Given the description of an element on the screen output the (x, y) to click on. 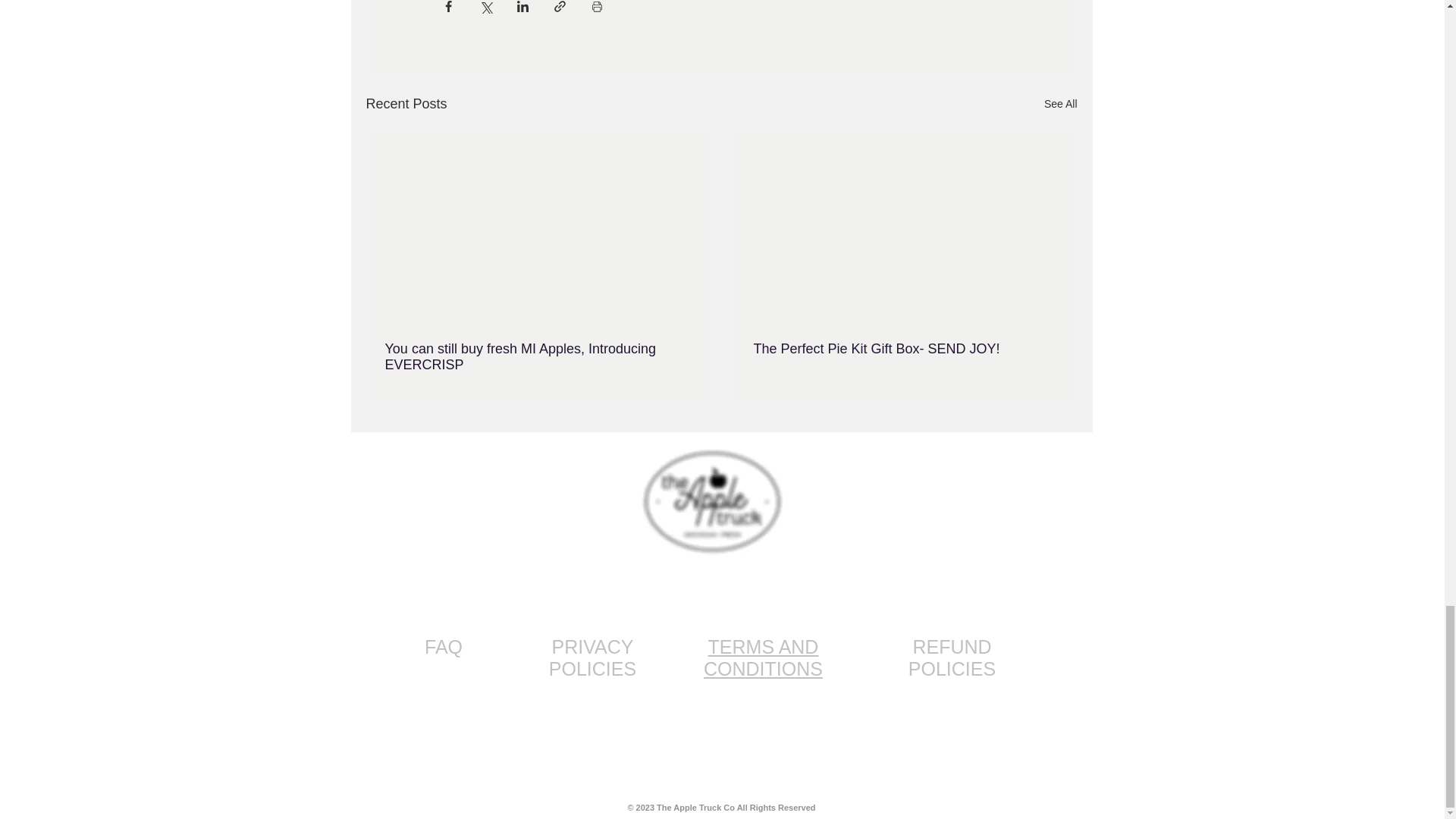
TERMS AND CONDITIONS (762, 657)
FAQ (444, 646)
You can still buy fresh MI Apples, Introducing EVERCRISP (537, 357)
PRIVACY POLICIES (592, 657)
The Perfect Pie Kit Gift Box- SEND JOY! (906, 349)
See All (1060, 104)
REFUND POLICIES (951, 657)
